Given the description of an element on the screen output the (x, y) to click on. 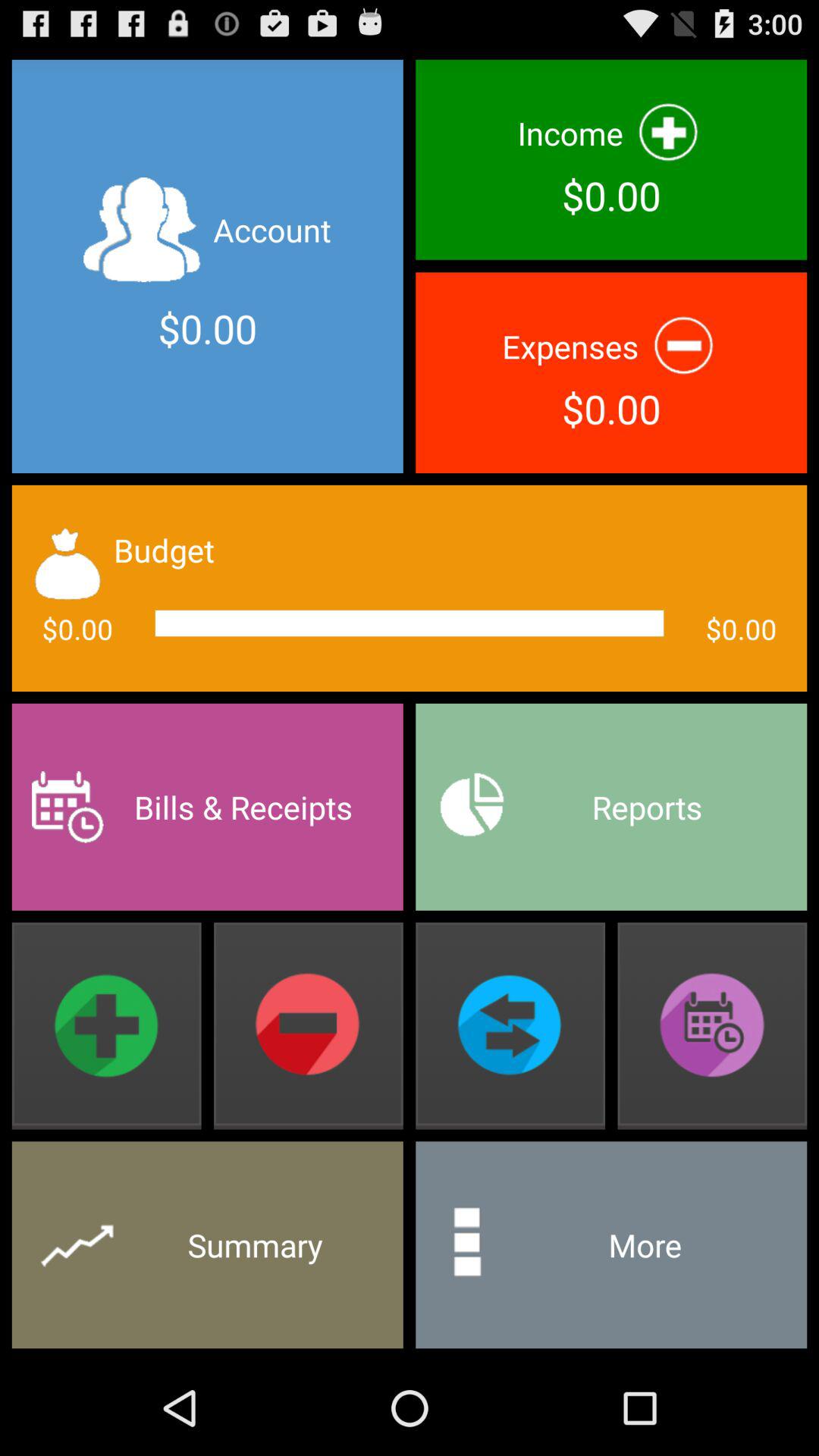
choose the summary (207, 1244)
